Given the description of an element on the screen output the (x, y) to click on. 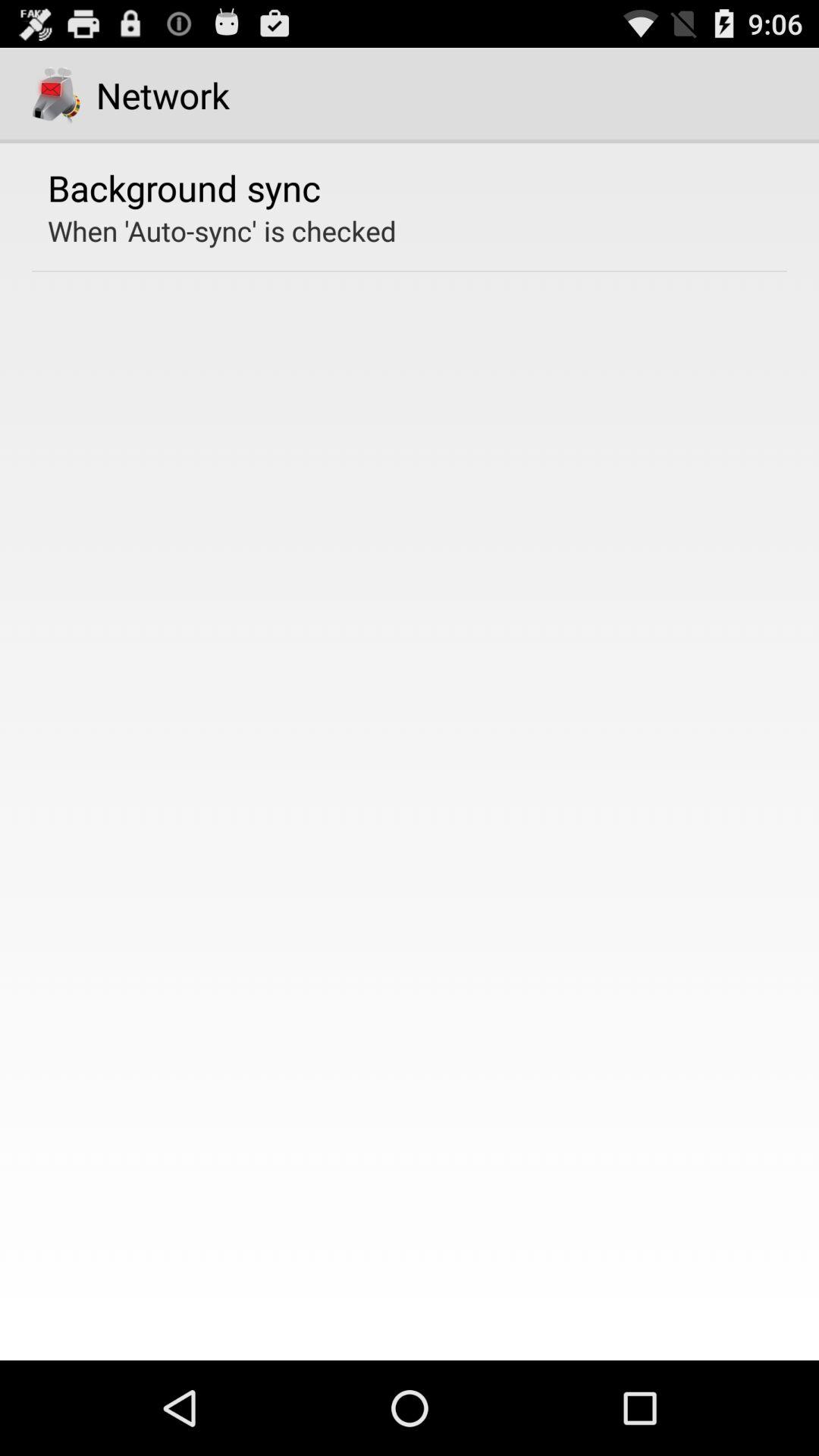
launch the when auto sync app (221, 230)
